Given the description of an element on the screen output the (x, y) to click on. 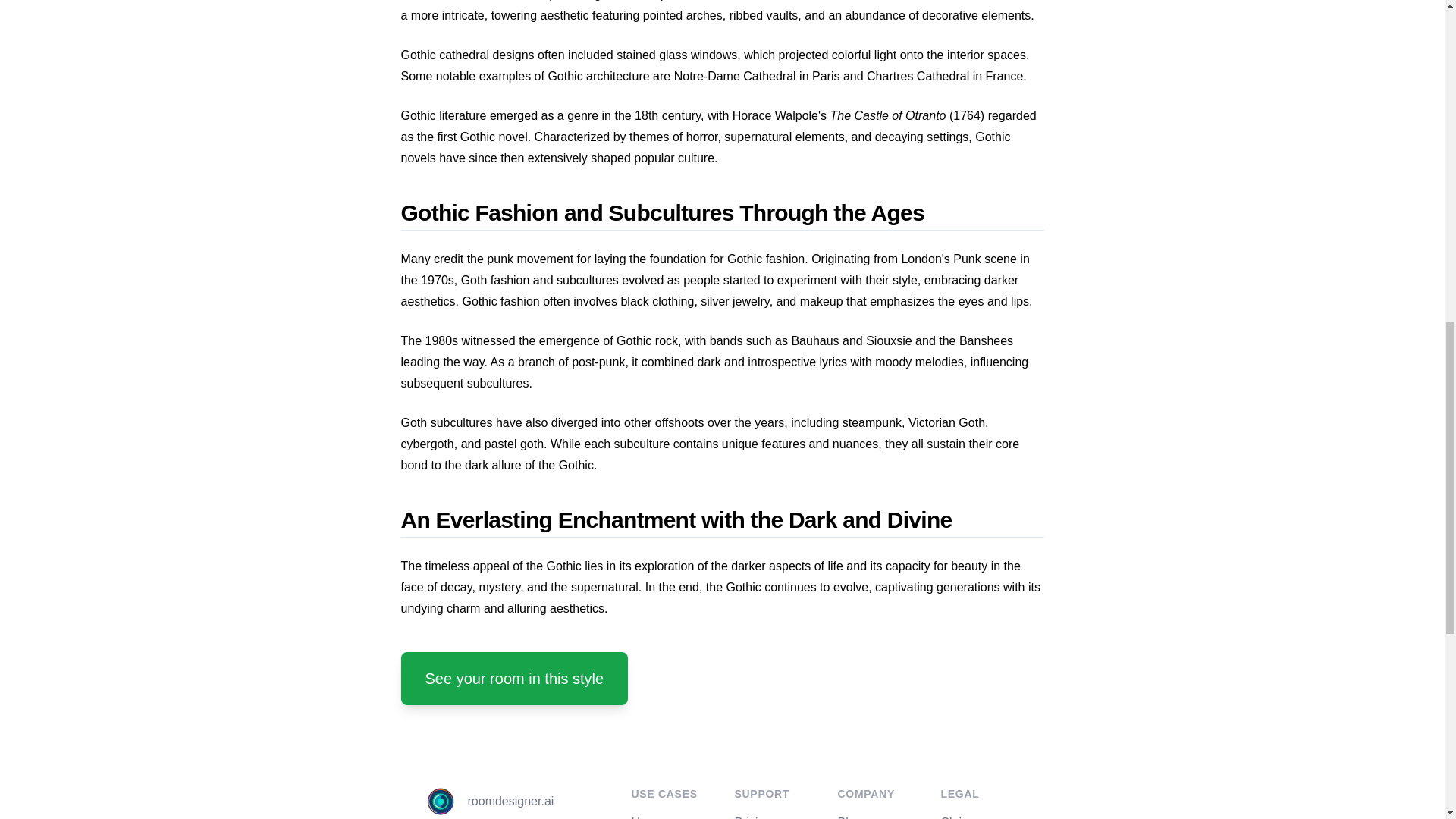
Claim (955, 817)
An Everlasting Enchantment with the Dark and Divine (721, 521)
Pricing (752, 817)
See your room in this style (513, 678)
Gothic Fashion and Subcultures Through the Ages (721, 214)
Home Makeover (657, 817)
Blog (849, 817)
